Given the description of an element on the screen output the (x, y) to click on. 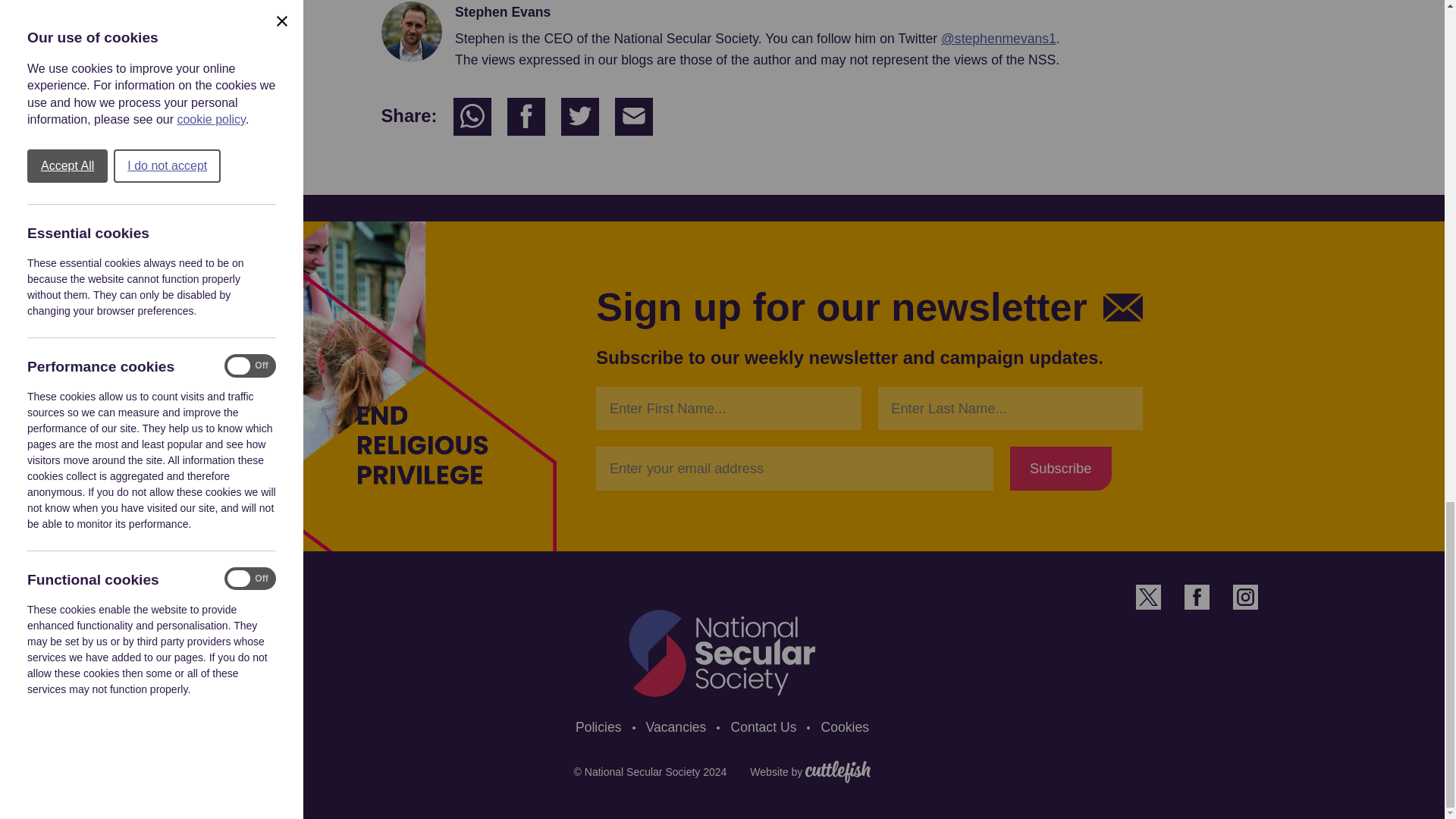
Follow us on Instagram (1245, 596)
Share on What's App (472, 116)
Share on Email (633, 116)
Logo (721, 653)
Share on Facebook (525, 116)
Subscribe (1061, 467)
Follow us on Twitter (1147, 596)
Policies (598, 727)
Share on Twitter (579, 116)
Subscribe (1061, 467)
Like us on Facebook (1197, 596)
